Given the description of an element on the screen output the (x, y) to click on. 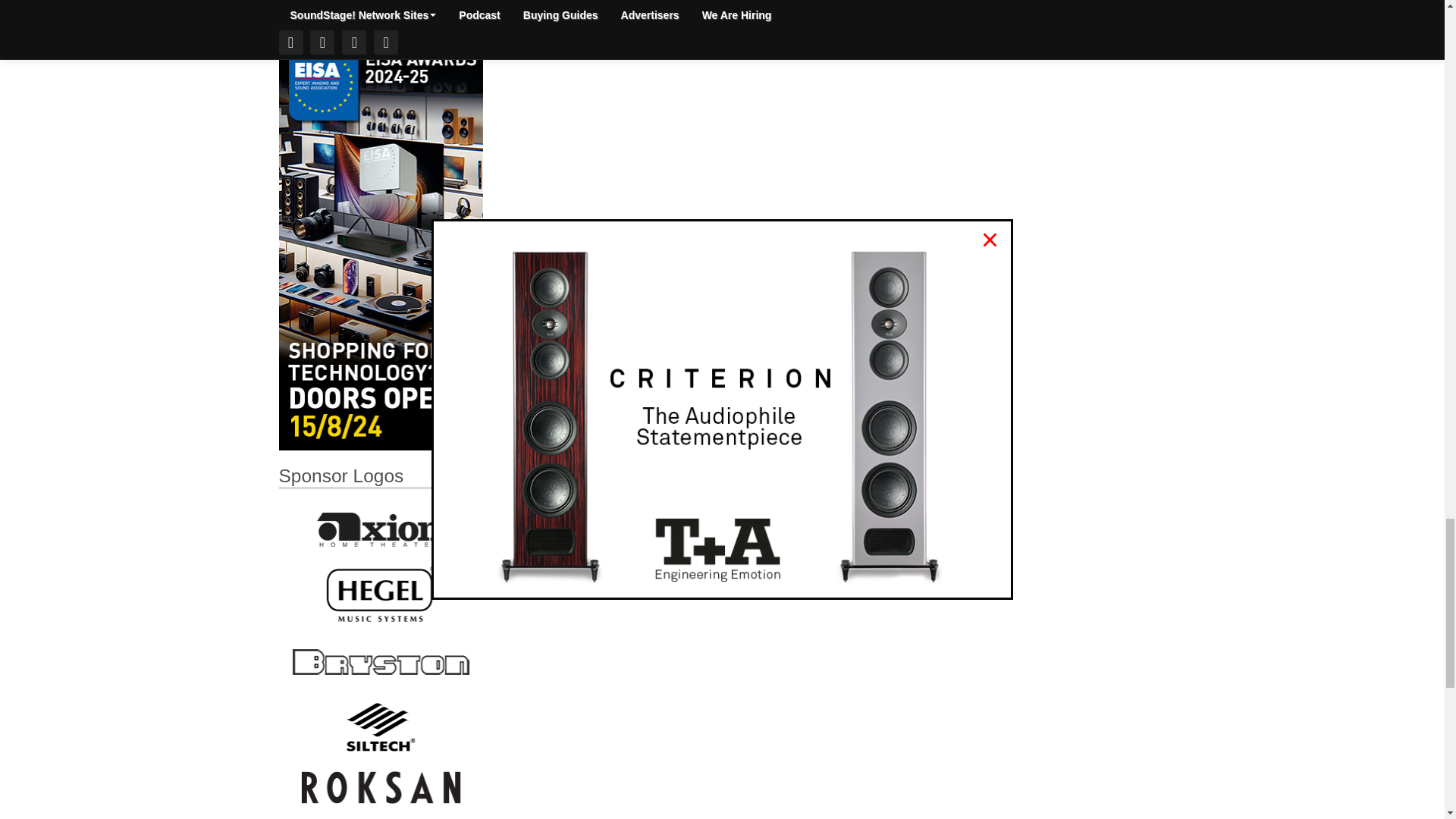
Logo Axiom Audio (381, 528)
Logo Roksan Audio - April 2018 (381, 786)
Logo Bryston (381, 661)
Logo Hegel (381, 592)
270W EISA 2024-2025 Awards Coming Soon (381, 244)
